Given the description of an element on the screen output the (x, y) to click on. 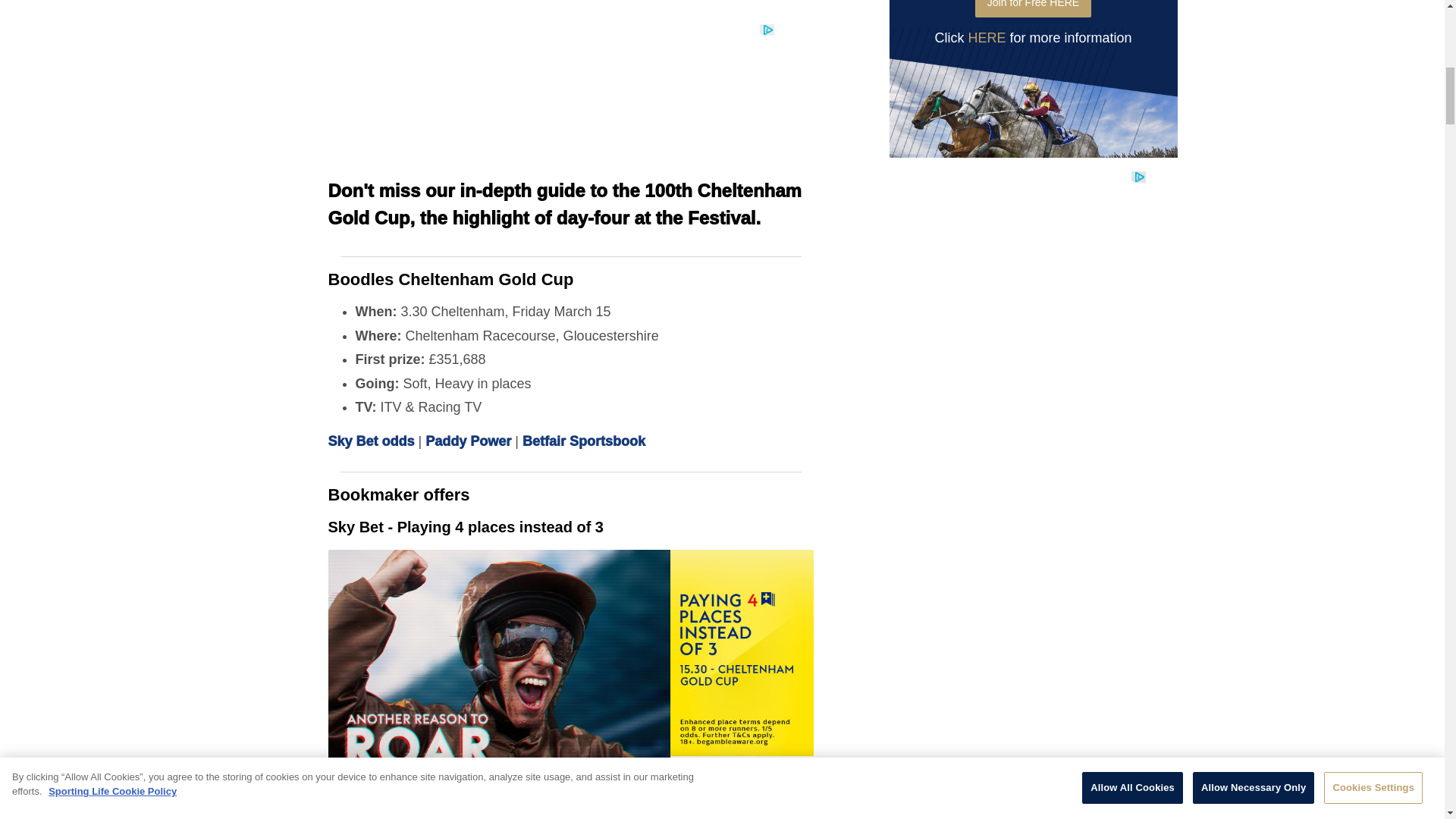
Sky Bet odds (370, 441)
